Given the description of an element on the screen output the (x, y) to click on. 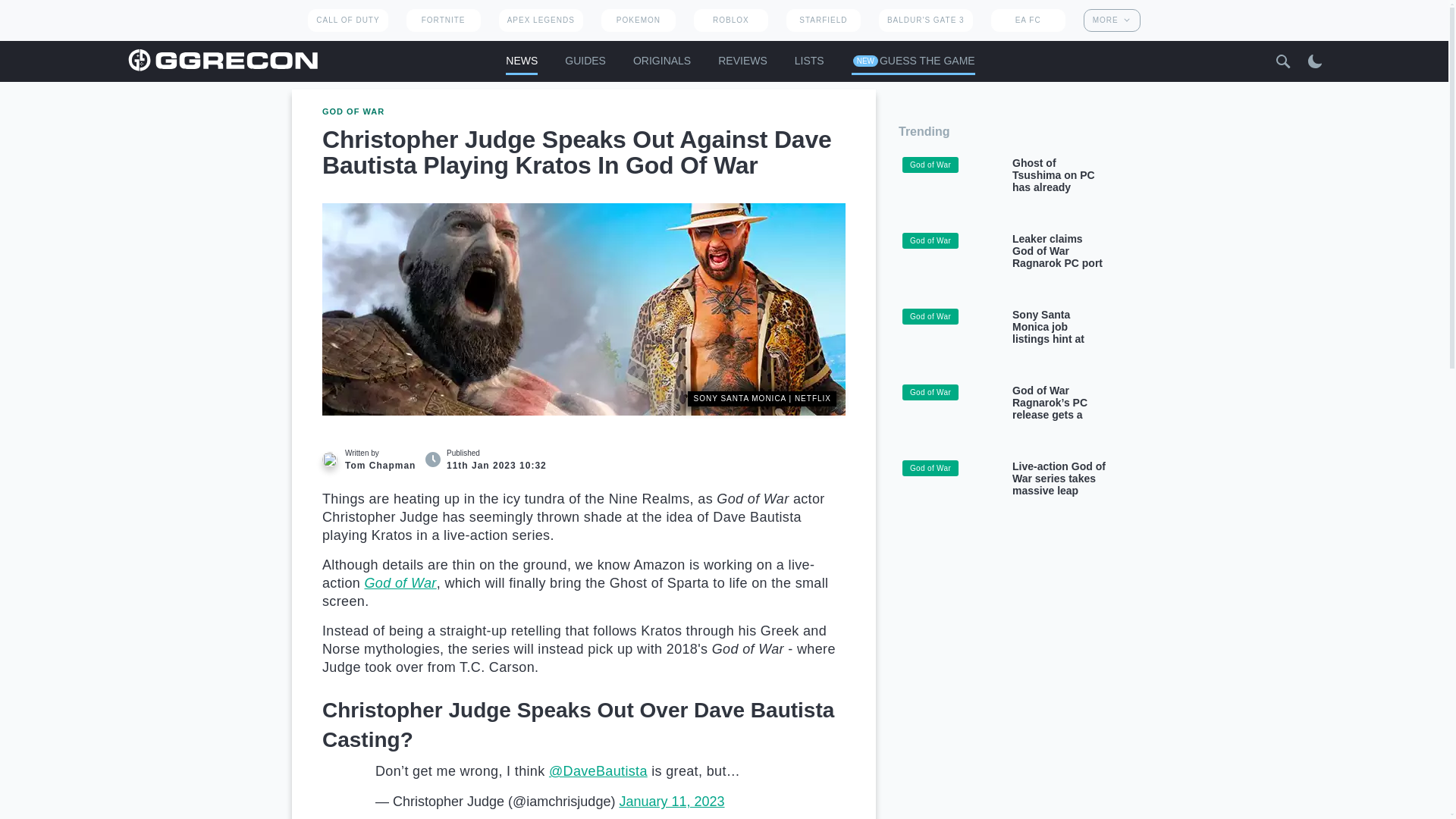
EA FC (1028, 20)
BALDUR'S GATE 3 (925, 20)
MORE (1111, 20)
authorlink (369, 459)
FORTNITE (443, 20)
God of War (399, 582)
STARFIELD (823, 20)
POKEMON (638, 20)
Tom Chapman (329, 459)
